Given the description of an element on the screen output the (x, y) to click on. 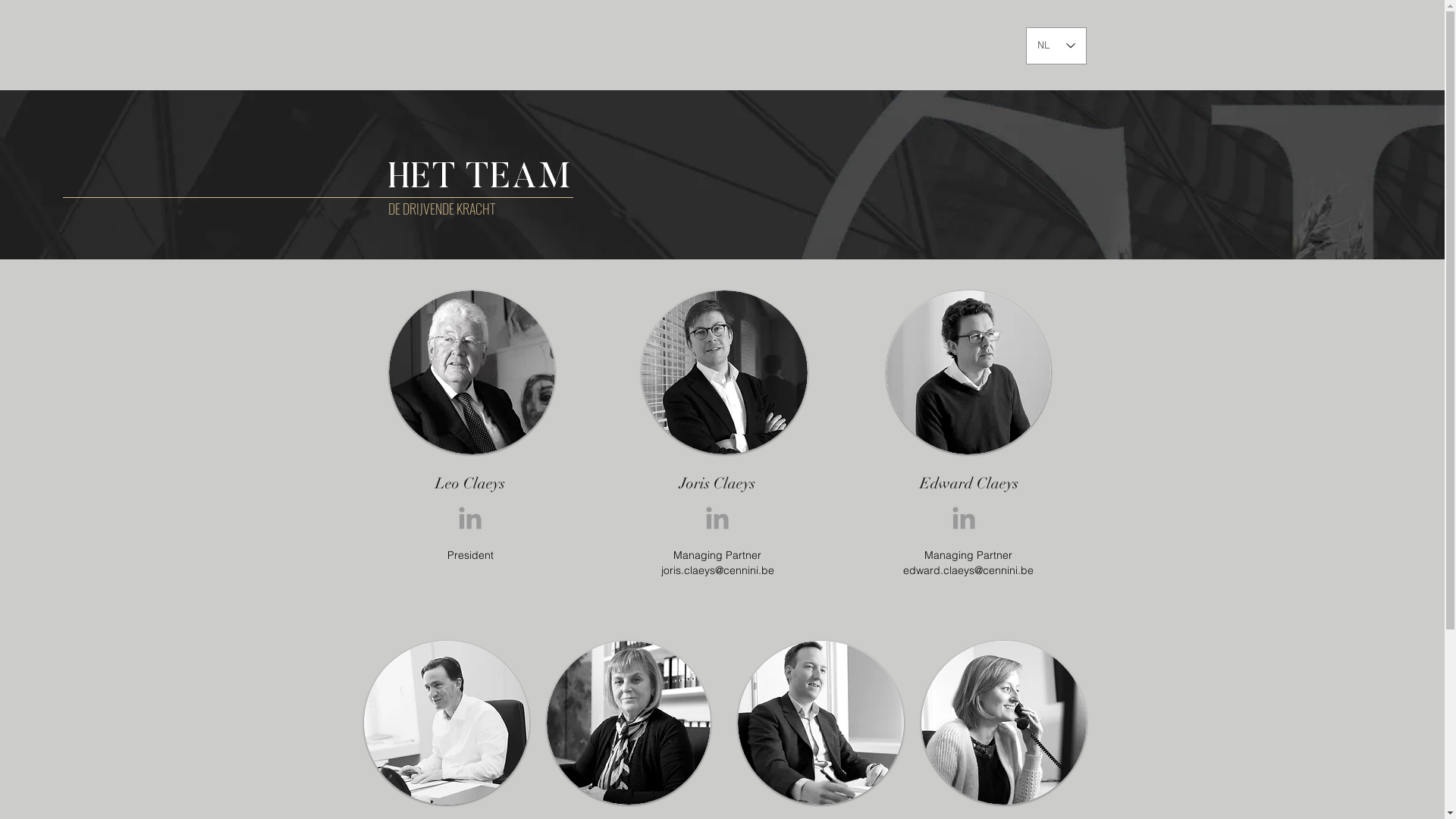
CONTACT Element type: text (983, 44)
HOME Element type: text (728, 44)
ACTIVITEITEN Element type: text (871, 44)
edward.claeys@cennini.be Element type: text (967, 570)
GESCHIEDENIS Element type: text (792, 44)
TEAM Element type: text (931, 44)
